Given the description of an element on the screen output the (x, y) to click on. 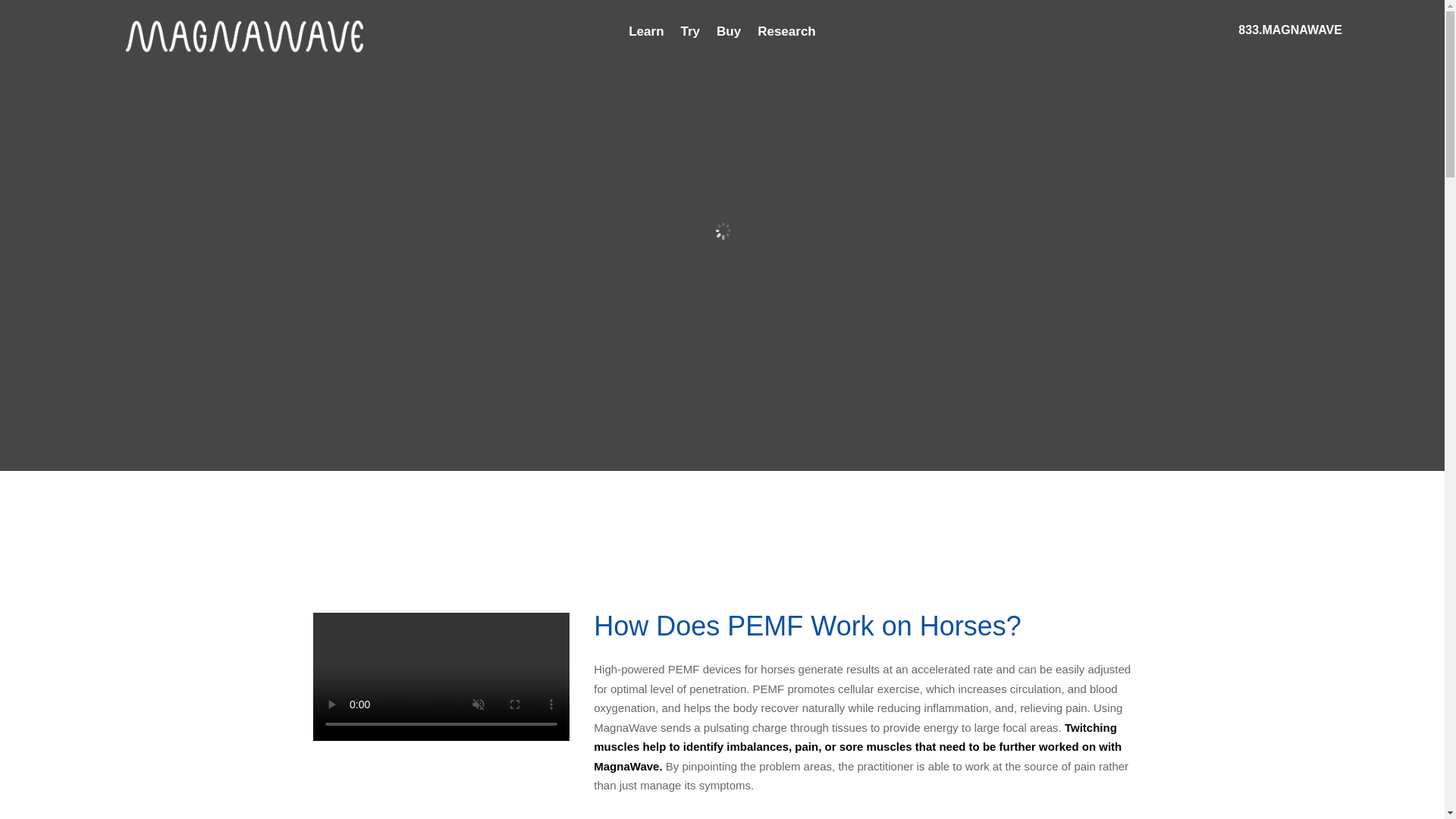
Learn (645, 34)
MagnaWave-logoWHT (244, 36)
Try (690, 34)
Research (786, 34)
Buy (728, 34)
